Given the description of an element on the screen output the (x, y) to click on. 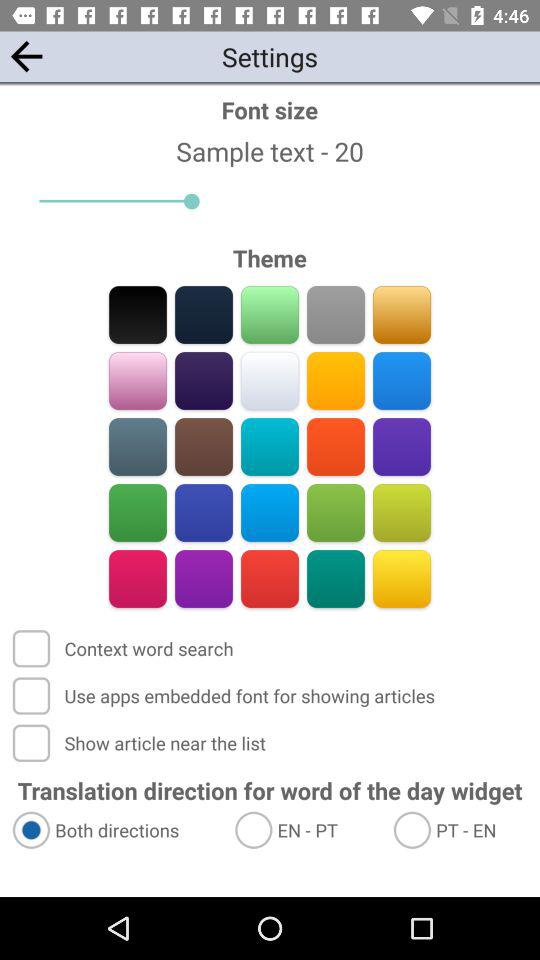
go back (26, 56)
